Given the description of an element on the screen output the (x, y) to click on. 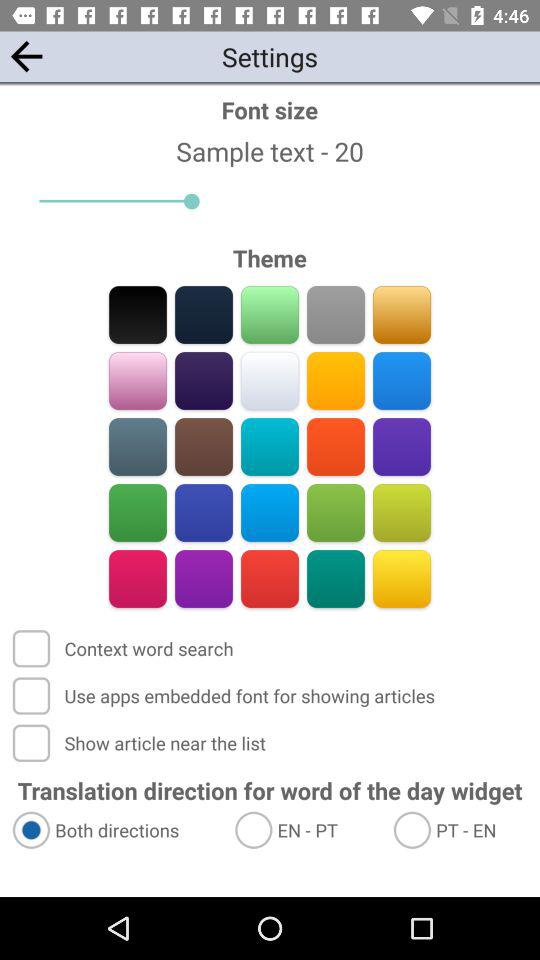
go back (26, 56)
